Given the description of an element on the screen output the (x, y) to click on. 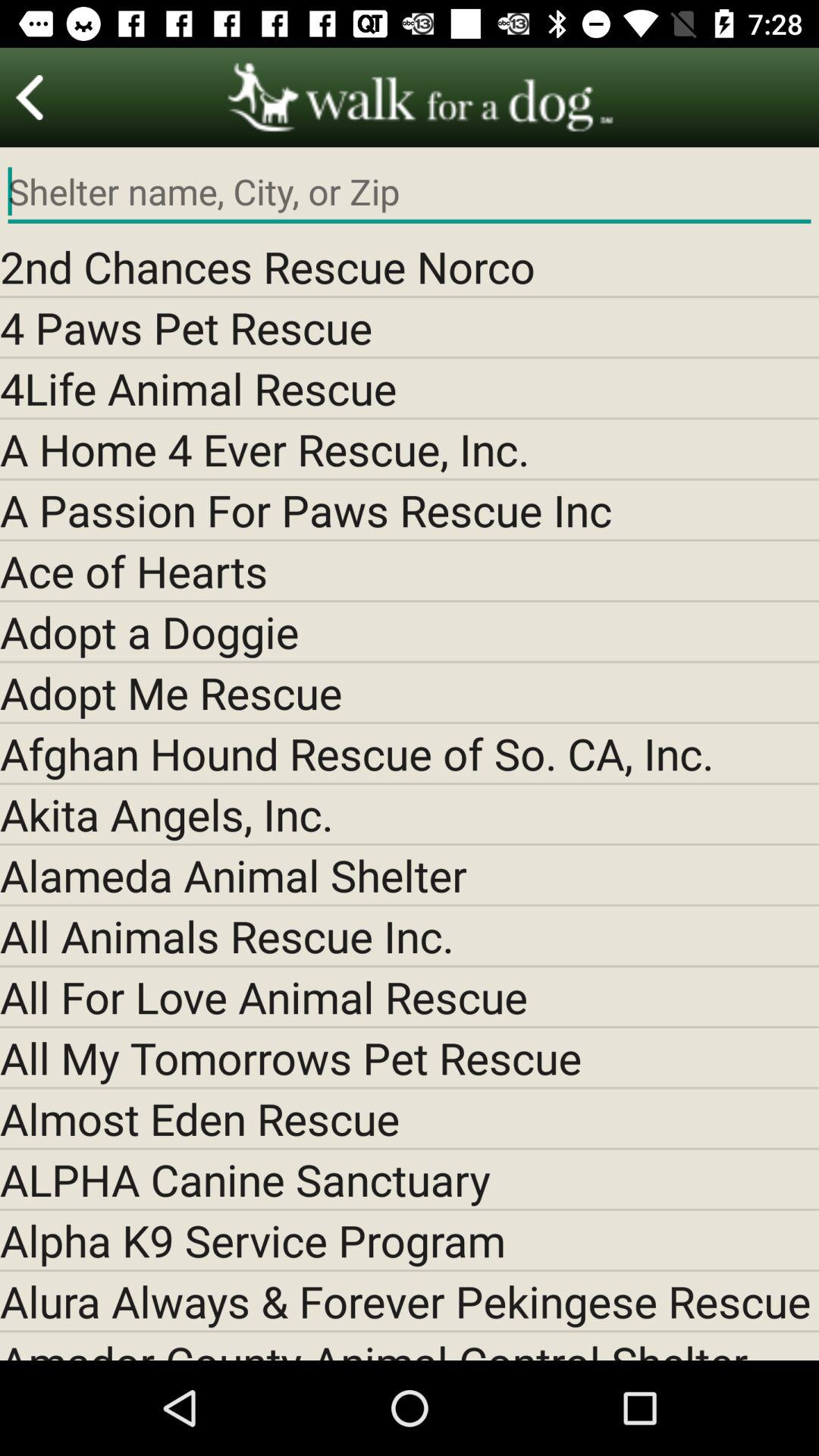
enter search criteria (409, 192)
